Given the description of an element on the screen output the (x, y) to click on. 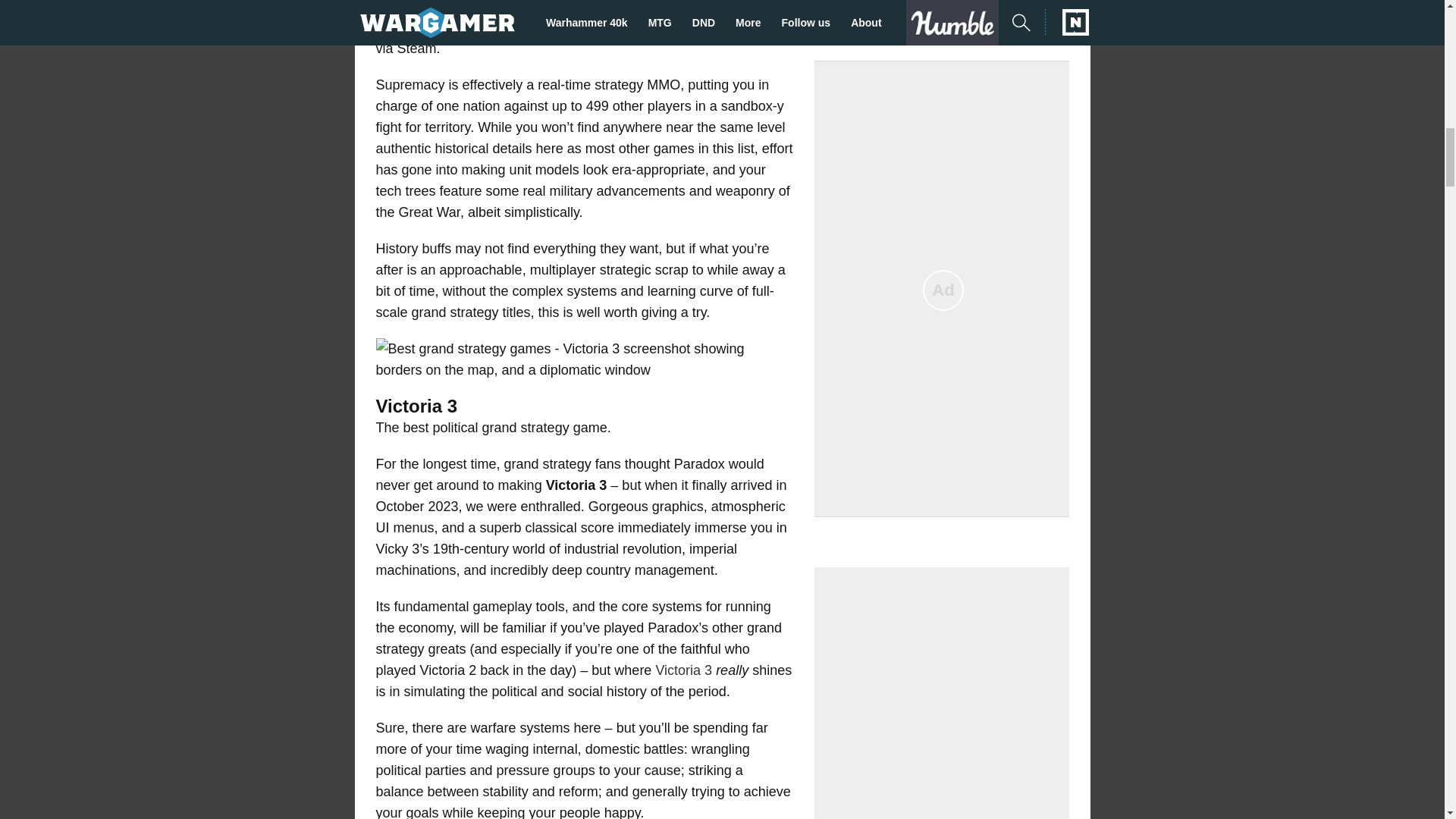
best-grand-strategy-games-victoria-3-map (584, 359)
